Given the description of an element on the screen output the (x, y) to click on. 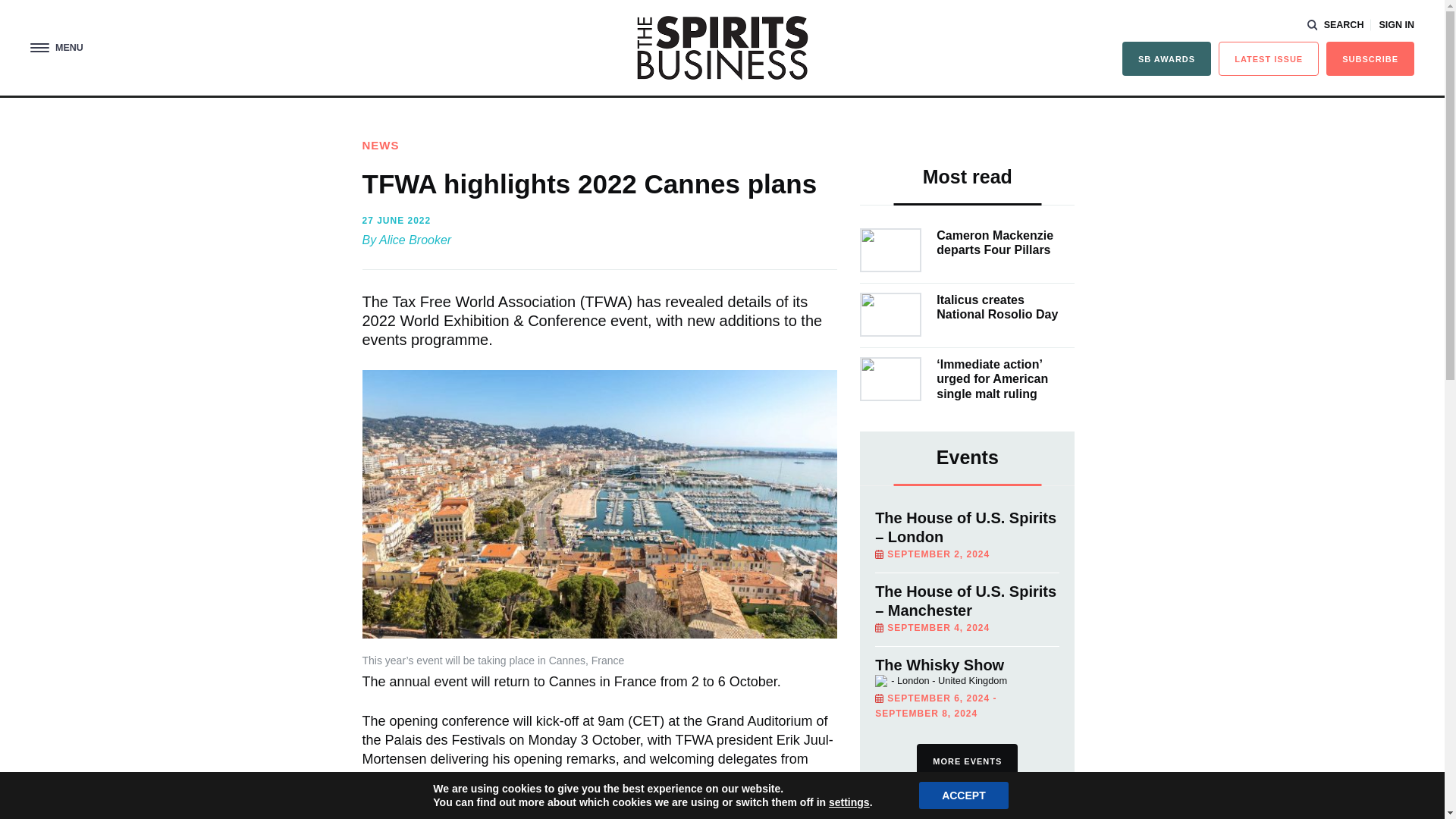
SB AWARDS (1166, 58)
The Spirits Business (722, 47)
SIGN IN (1395, 25)
SUBSCRIBE (1369, 58)
LATEST ISSUE (1268, 58)
